Given the description of an element on the screen output the (x, y) to click on. 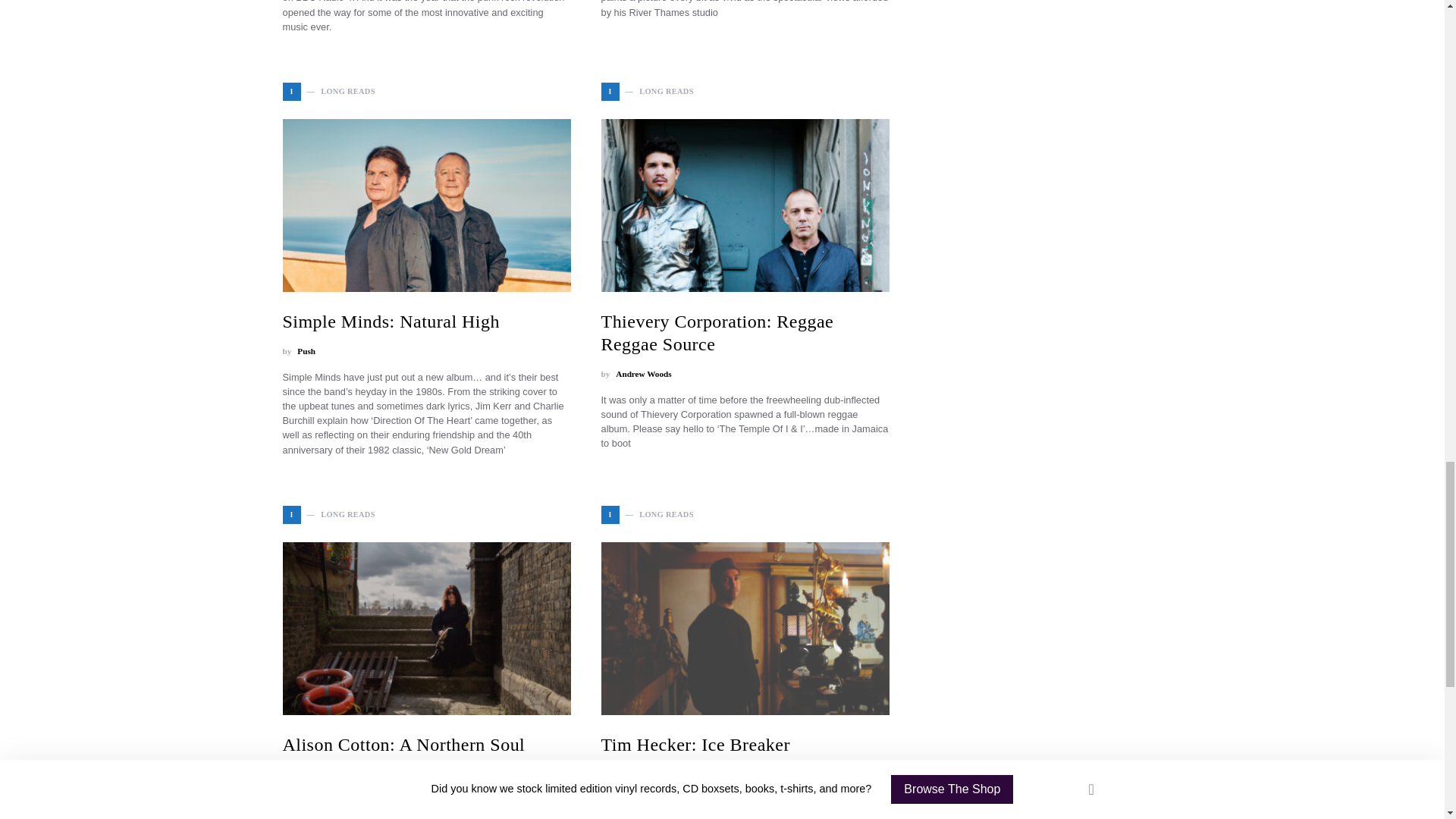
View all posts by Bob Fischer (318, 774)
View all posts by Andrew Woods (643, 373)
View all posts by Push (306, 350)
View all posts by Mat Smith (634, 774)
